Given the description of an element on the screen output the (x, y) to click on. 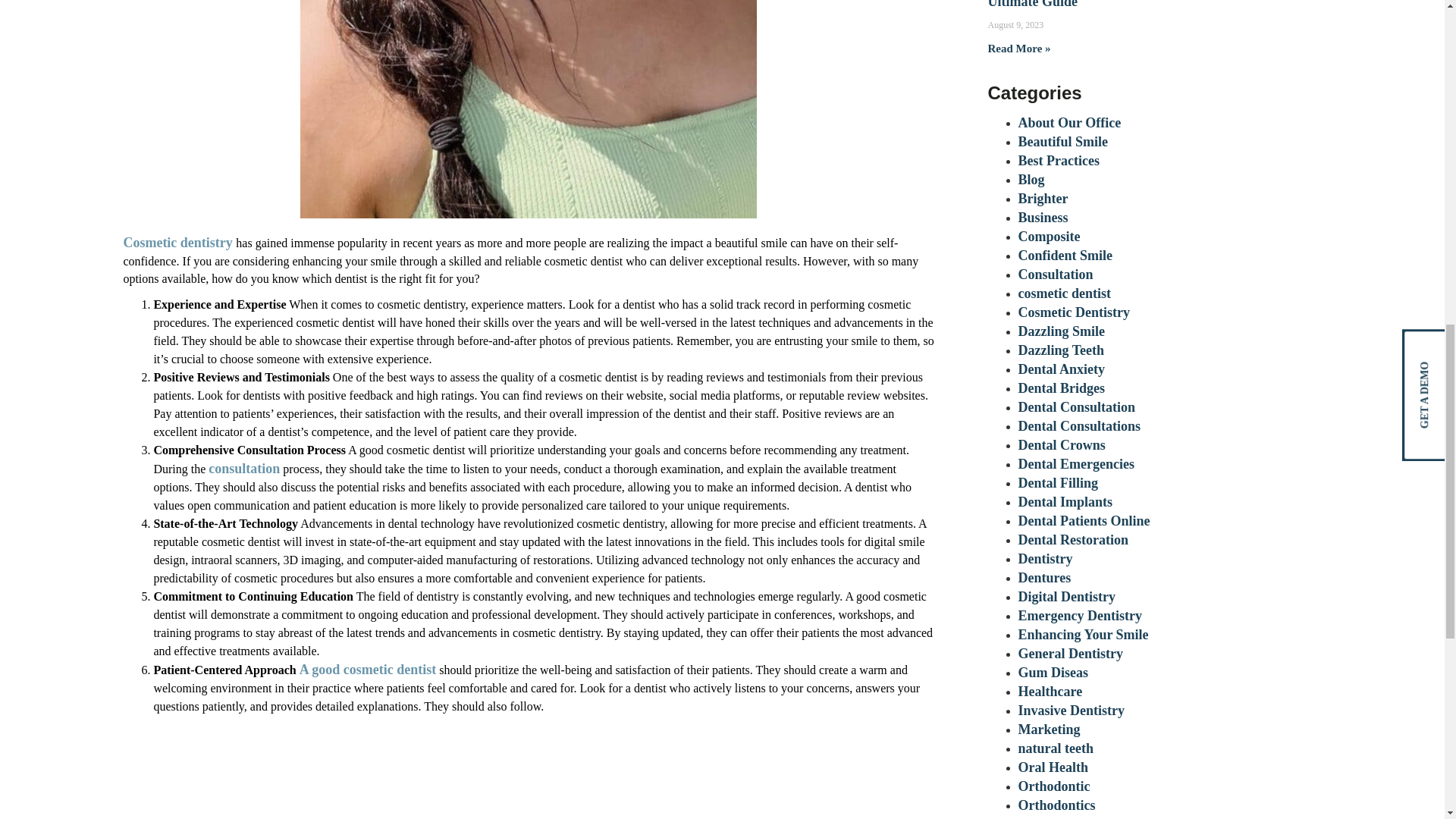
consultation (243, 468)
Cosmetic dentistry (178, 242)
A good cosmetic dentist (367, 669)
